Given the description of an element on the screen output the (x, y) to click on. 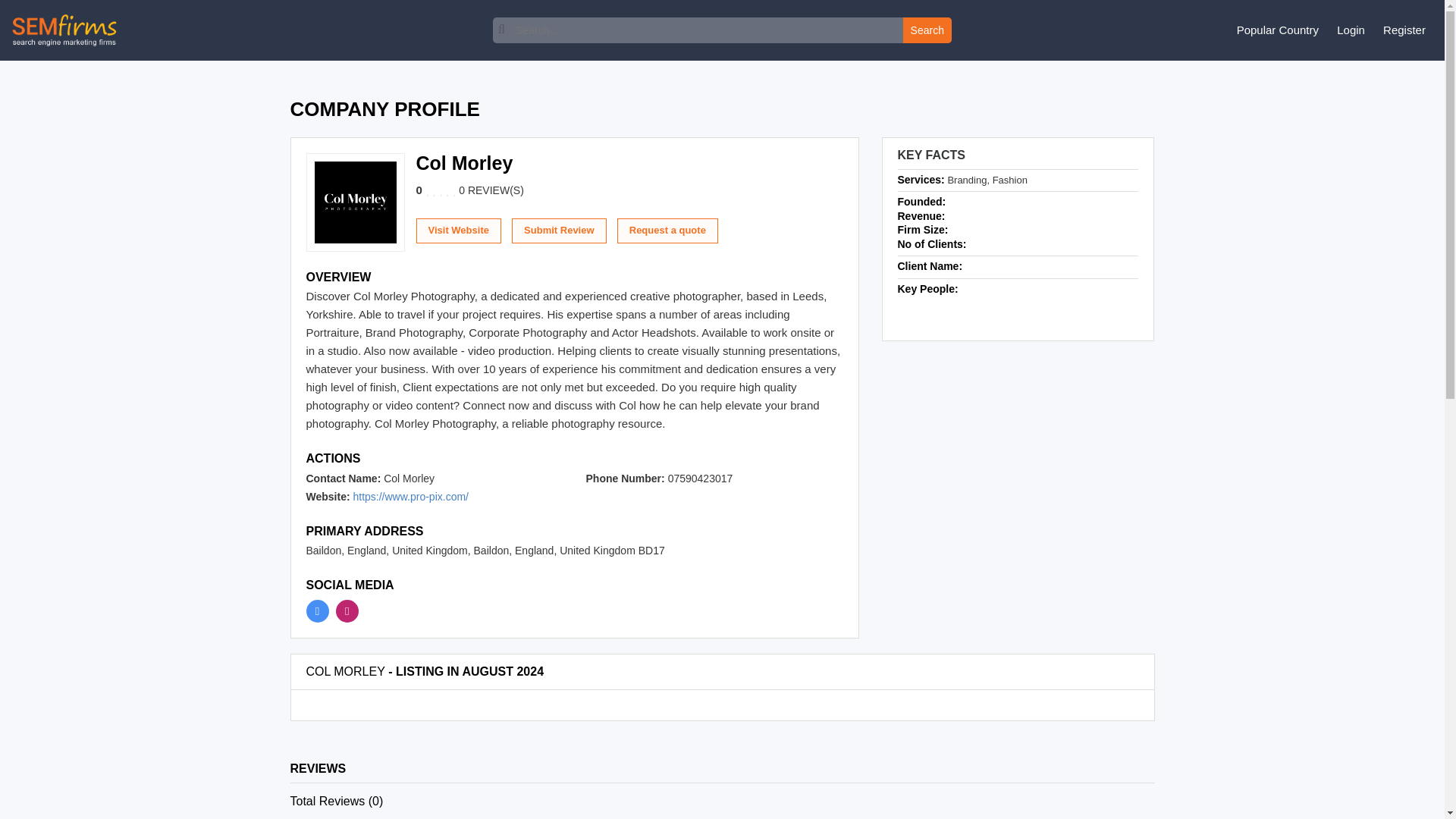
Request a quote (667, 230)
Submit Review (558, 230)
Visit Website (457, 230)
Popular Country (1277, 29)
Search (927, 30)
Register (1403, 29)
Login (1351, 29)
